Given the description of an element on the screen output the (x, y) to click on. 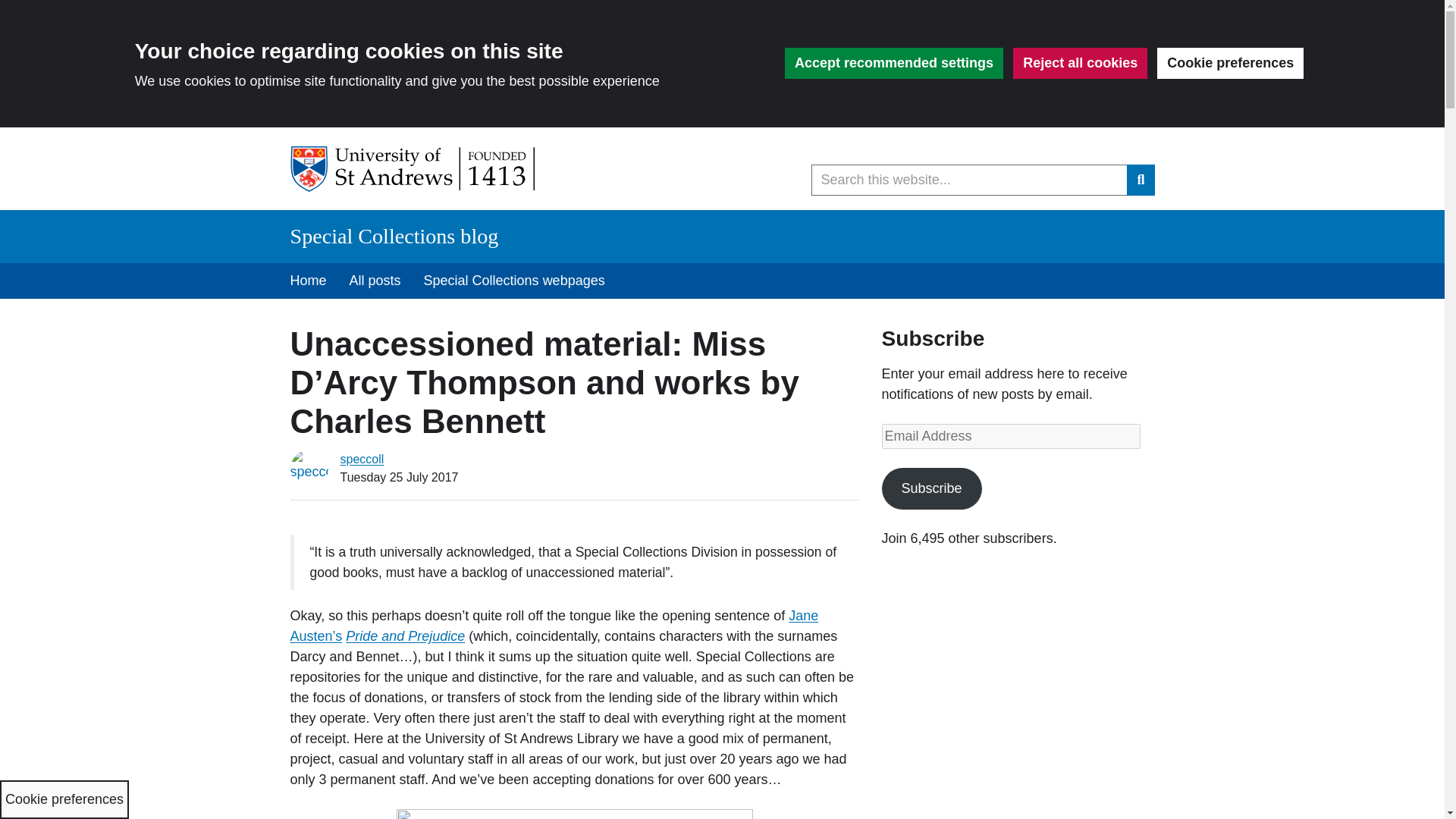
Posts by speccoll (361, 459)
speccoll (361, 459)
Cookie preferences (1230, 62)
Special Collections webpages (513, 280)
Special Collections blog (393, 236)
All posts (374, 280)
Home (308, 280)
Pride and Prejudice (405, 635)
Reject all cookies (1080, 62)
Accept recommended settings (893, 62)
